Given the description of an element on the screen output the (x, y) to click on. 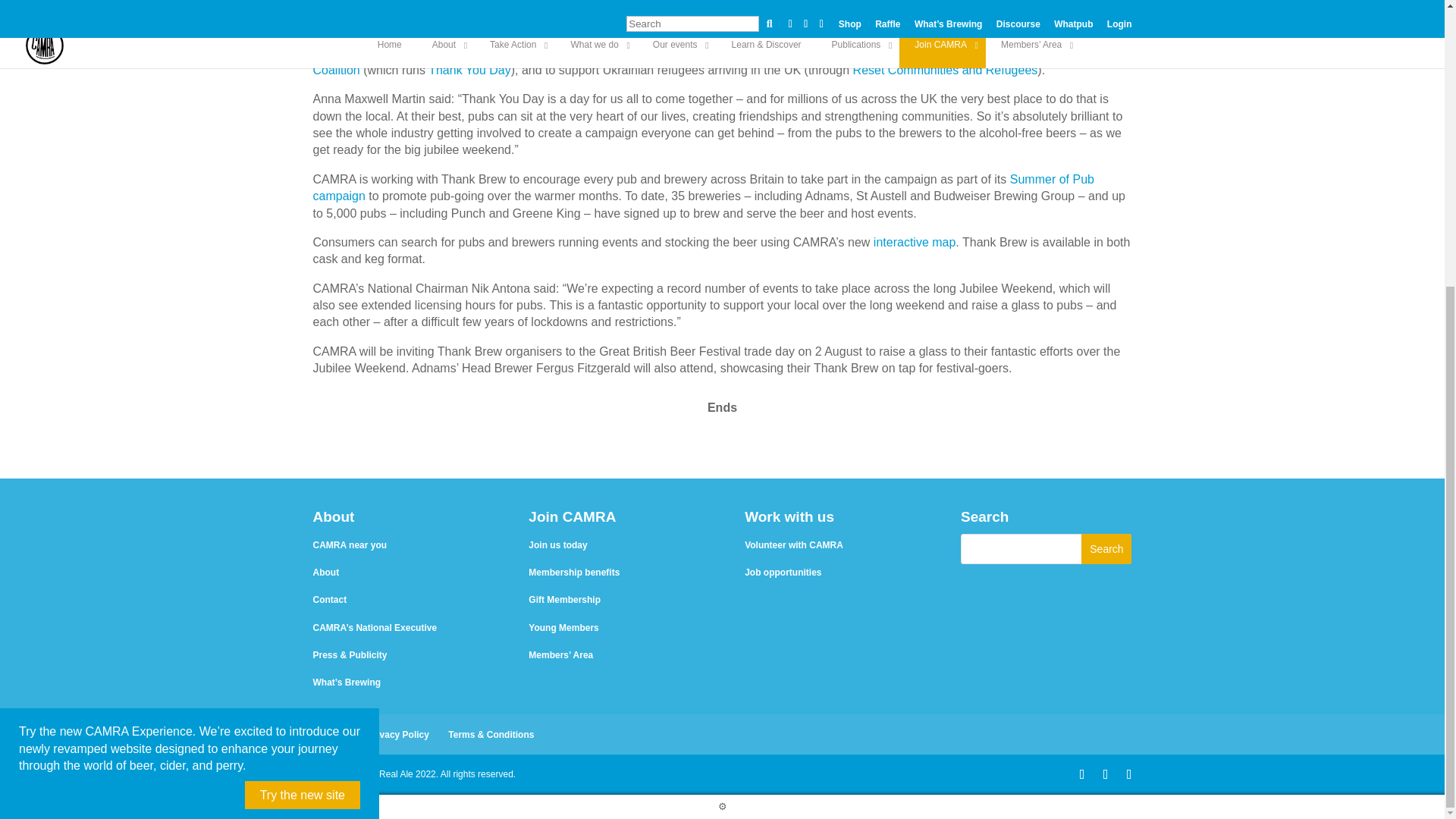
Search (1106, 548)
Try the new site (301, 362)
